Given the description of an element on the screen output the (x, y) to click on. 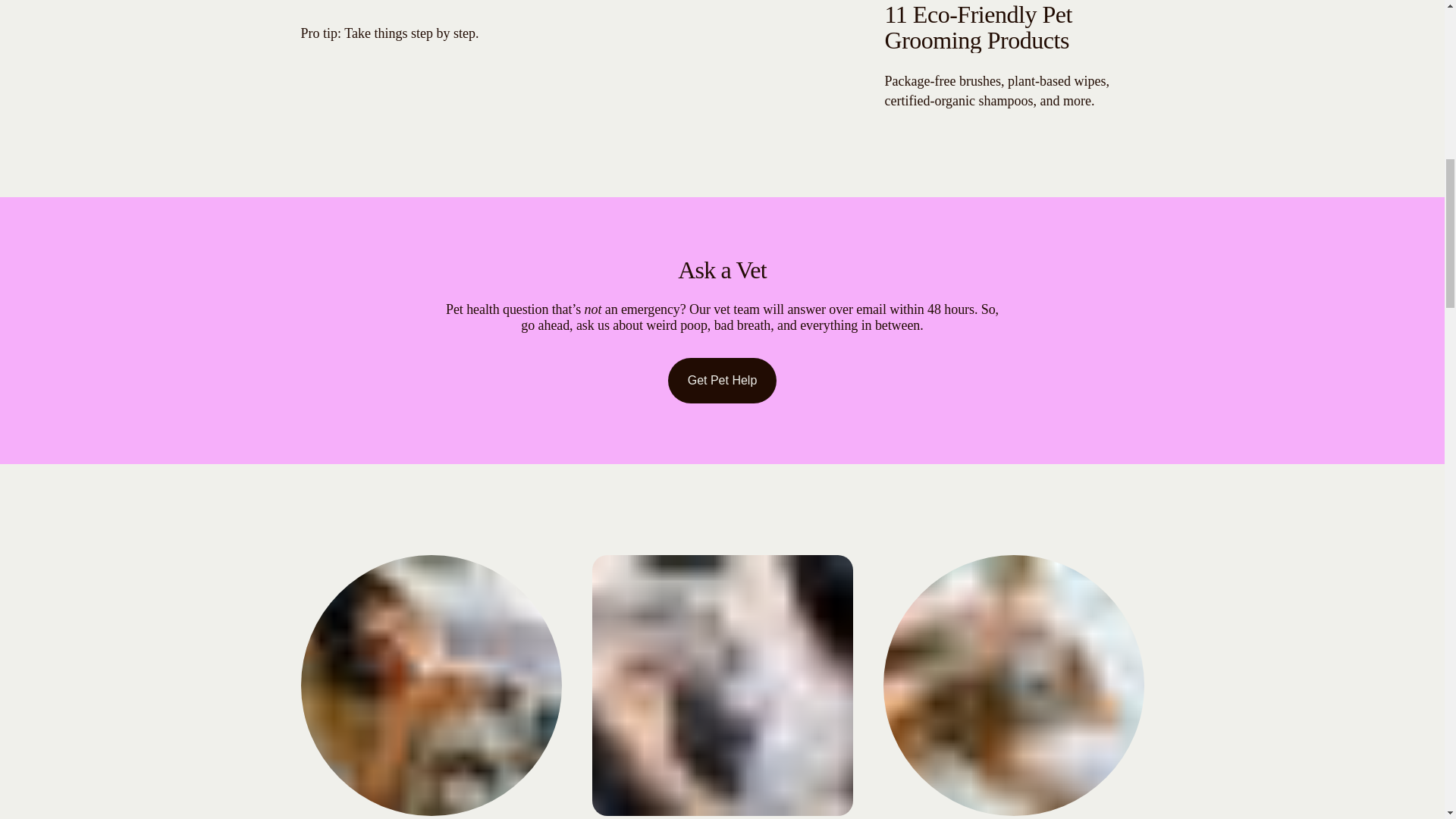
11 Eco-Friendly Pet Grooming Products (977, 27)
How to Give Your Cat a Bath (437, 2)
Get Pet Help (722, 380)
